Given the description of an element on the screen output the (x, y) to click on. 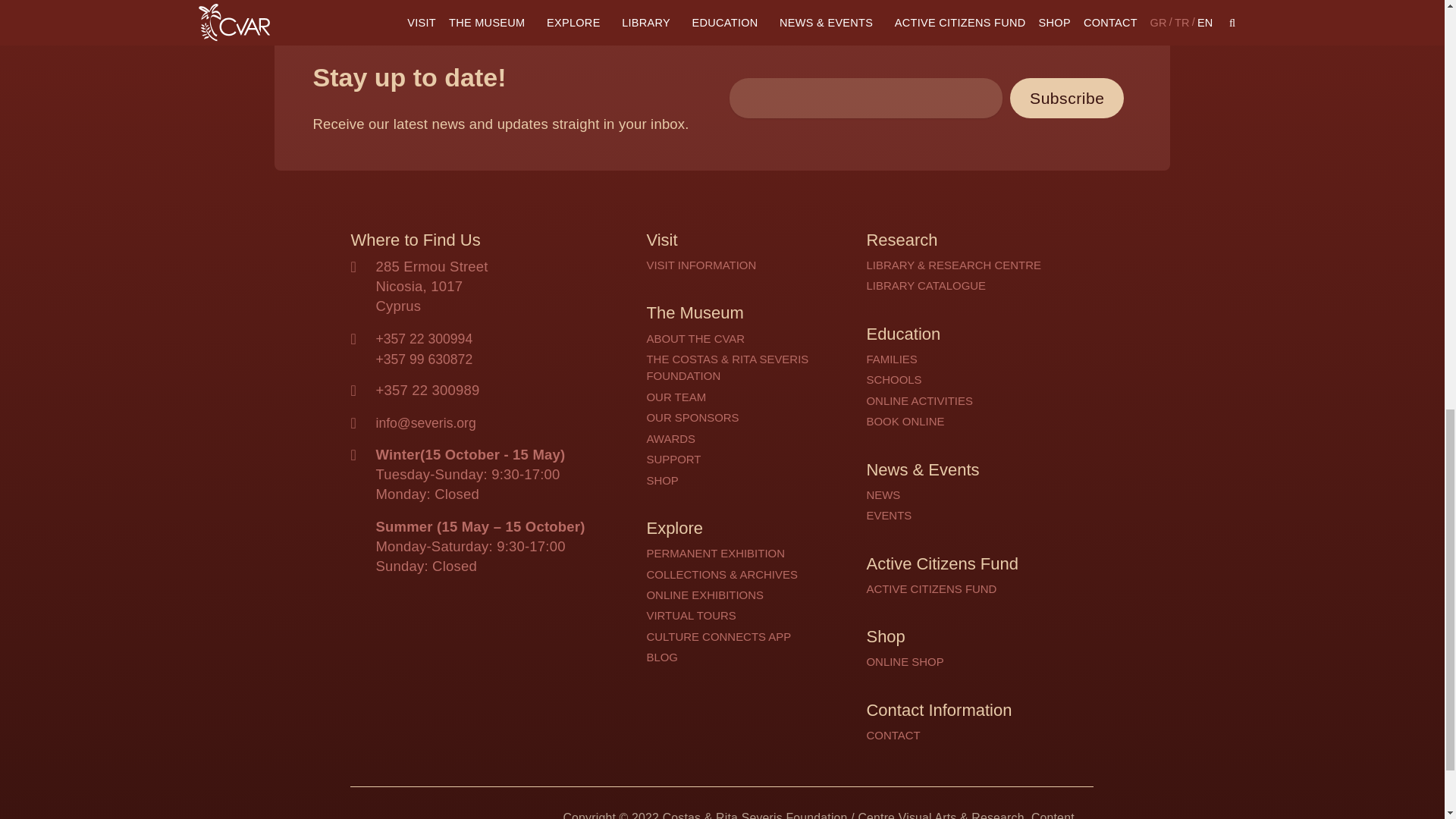
Subscribe (1067, 97)
